Given the description of an element on the screen output the (x, y) to click on. 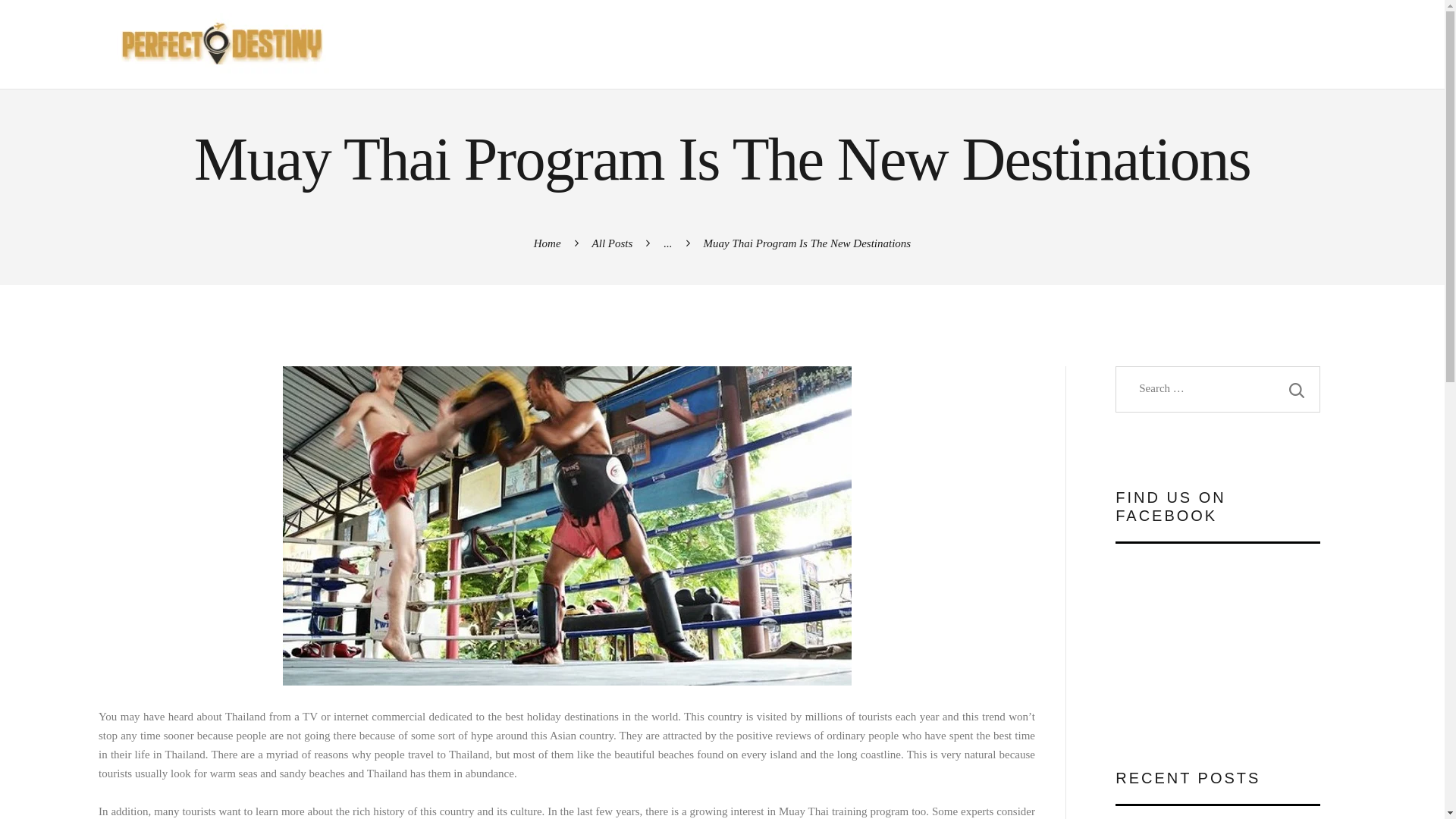
Home (547, 242)
All Posts (612, 243)
